Given the description of an element on the screen output the (x, y) to click on. 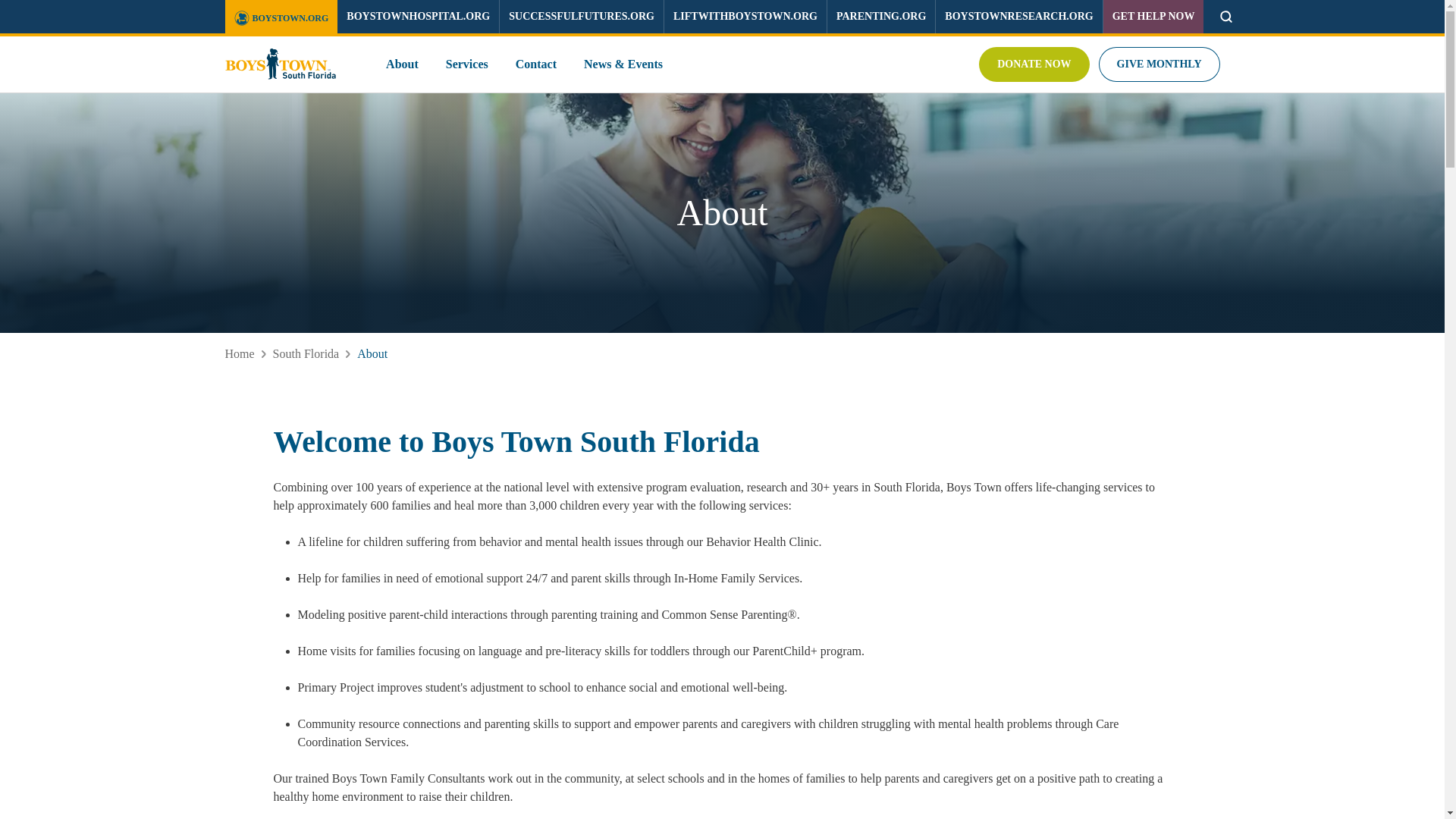
GIVE MONTHLY (1159, 63)
About (371, 353)
Give Monthly (1159, 63)
DONATE NOW (1033, 63)
Services (466, 64)
GET HELP NOW (1153, 16)
Donate Now (1033, 63)
SUCCESSFULFUTURES.ORG (581, 16)
BOYSTOWNRESEARCH.ORG (1018, 16)
BOYSTOWN.ORG (280, 18)
South Florida (306, 353)
Home (238, 353)
About (402, 64)
LIFTWITHBOYSTOWN.ORG (745, 16)
Contact (535, 64)
